Given the description of an element on the screen output the (x, y) to click on. 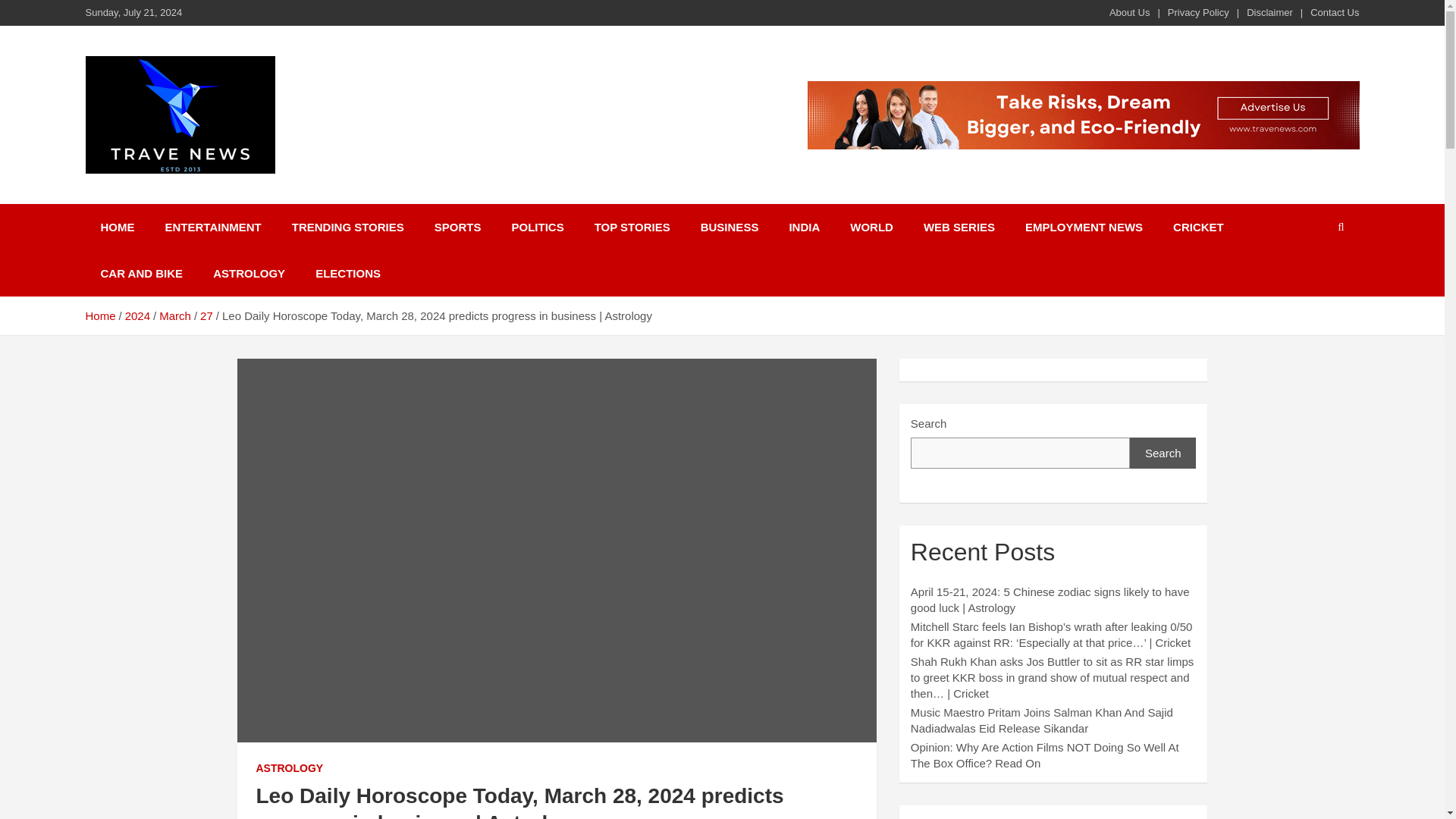
ENTERTAINMENT (212, 226)
ASTROLOGY (248, 273)
HOME (116, 226)
2024 (137, 315)
INDIA (803, 226)
TOP STORIES (632, 226)
WORLD (871, 226)
SPORTS (457, 226)
POLITICS (537, 226)
March (174, 315)
About Us (1129, 12)
27 (206, 315)
Disclaimer (1269, 12)
BUSINESS (729, 226)
TRENDING STORIES (347, 226)
